Given the description of an element on the screen output the (x, y) to click on. 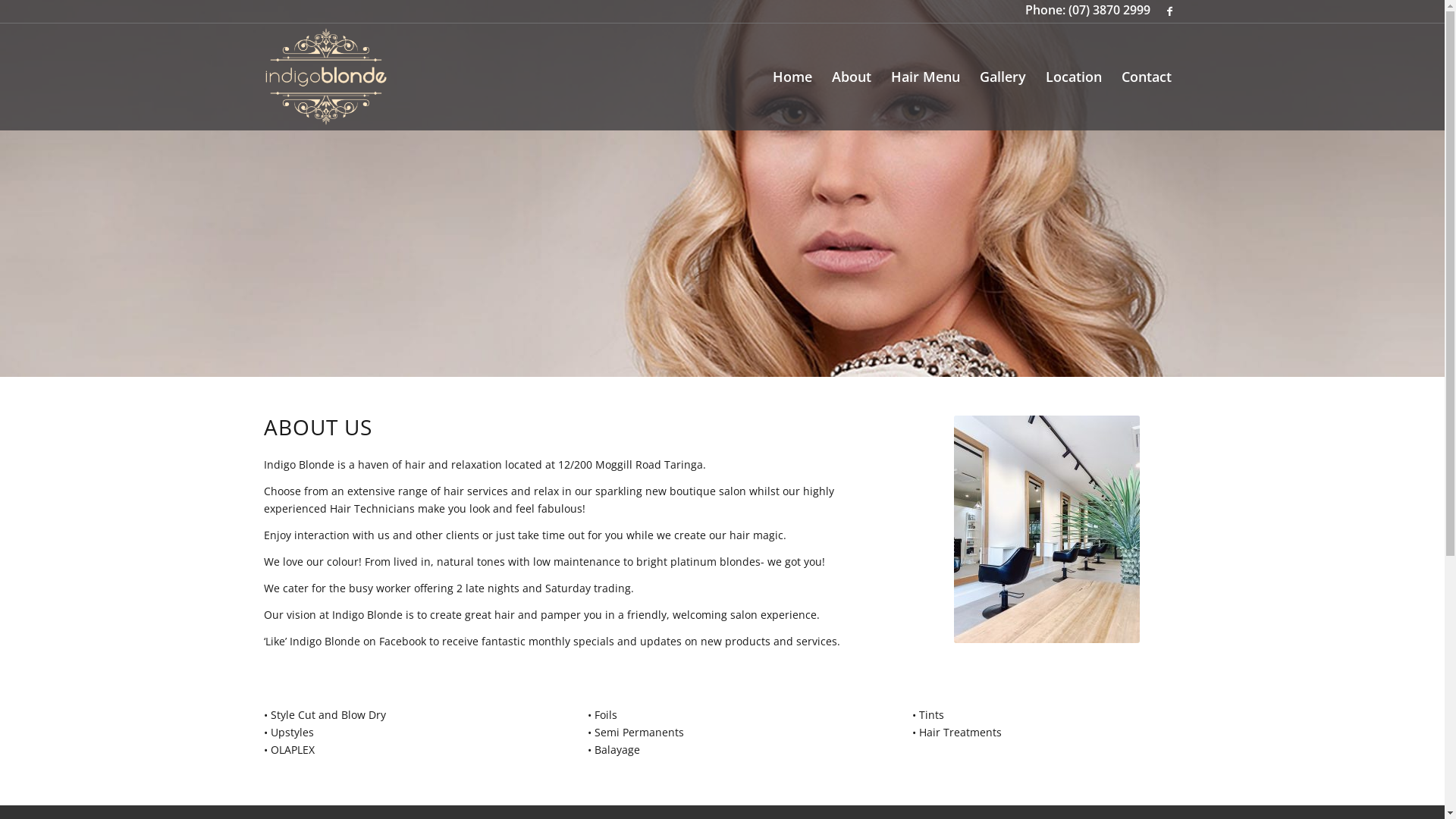
nav_bg4 Element type: hover (722, 188)
Home Element type: text (792, 76)
About Element type: text (851, 76)
Facebook Element type: hover (1169, 11)
Location Element type: text (1073, 76)
Hair Menu Element type: text (925, 76)
IMG_4287 Element type: hover (1046, 529)
logoINdi2 Element type: hover (326, 76)
Phone: (07) 3870 2999 Element type: text (1087, 9)
Gallery Element type: text (1002, 76)
Contact Element type: text (1146, 76)
